Given the description of an element on the screen output the (x, y) to click on. 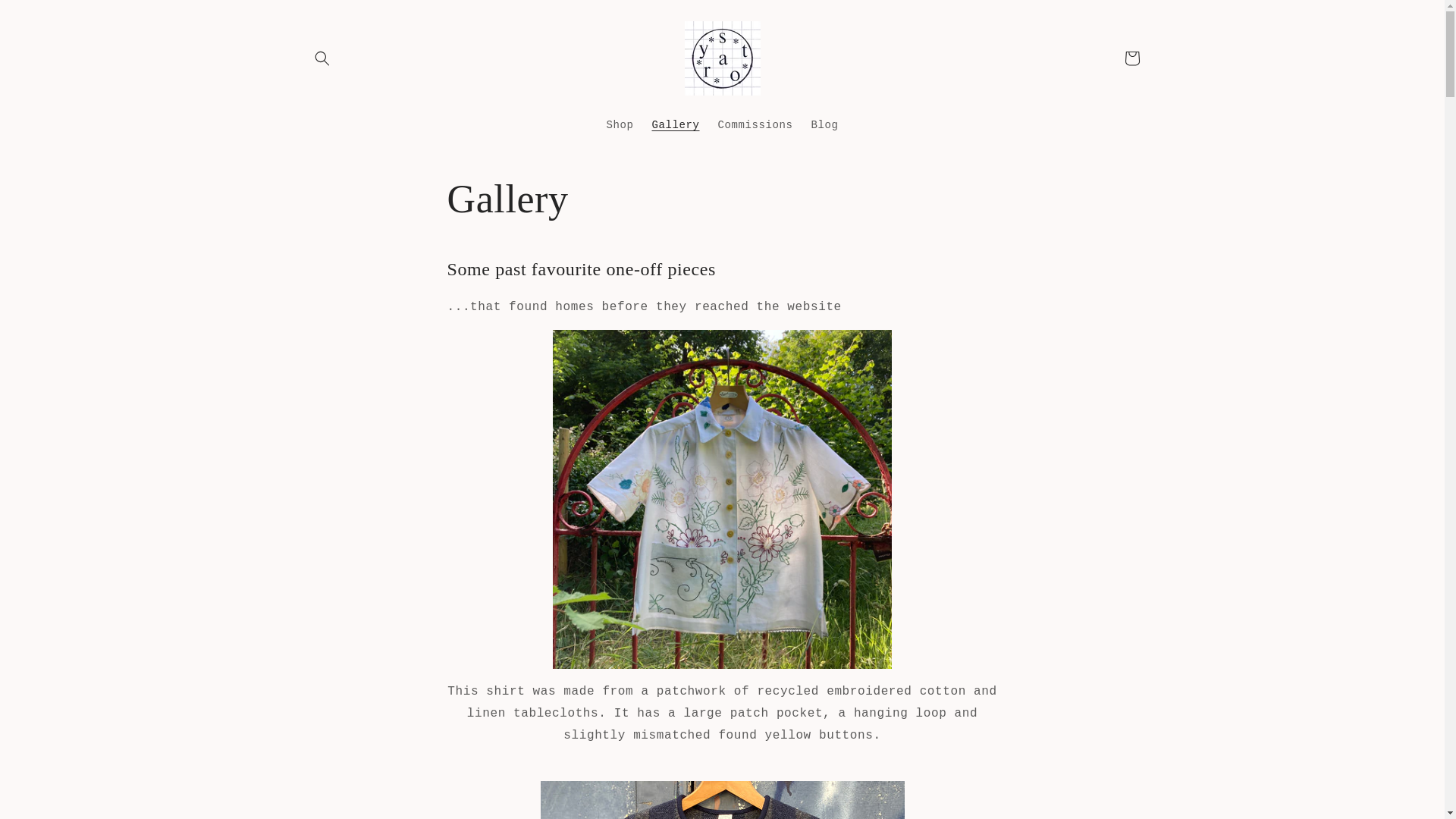
Blog (824, 124)
Cart (1131, 57)
Shop (619, 124)
Gallery (674, 124)
Skip to content (45, 17)
Commissions (754, 124)
